Given the description of an element on the screen output the (x, y) to click on. 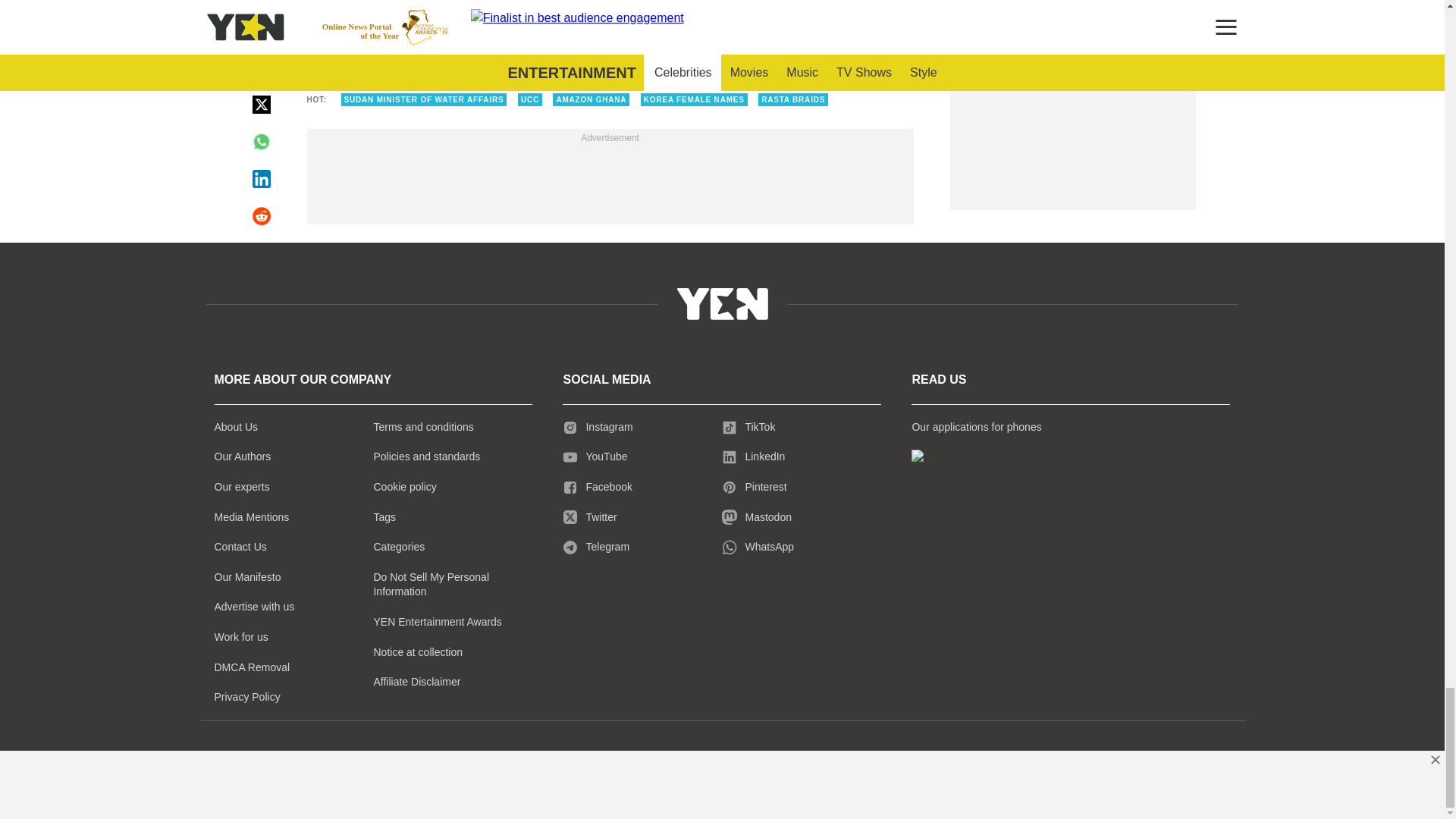
Author page (533, 21)
